Given the description of an element on the screen output the (x, y) to click on. 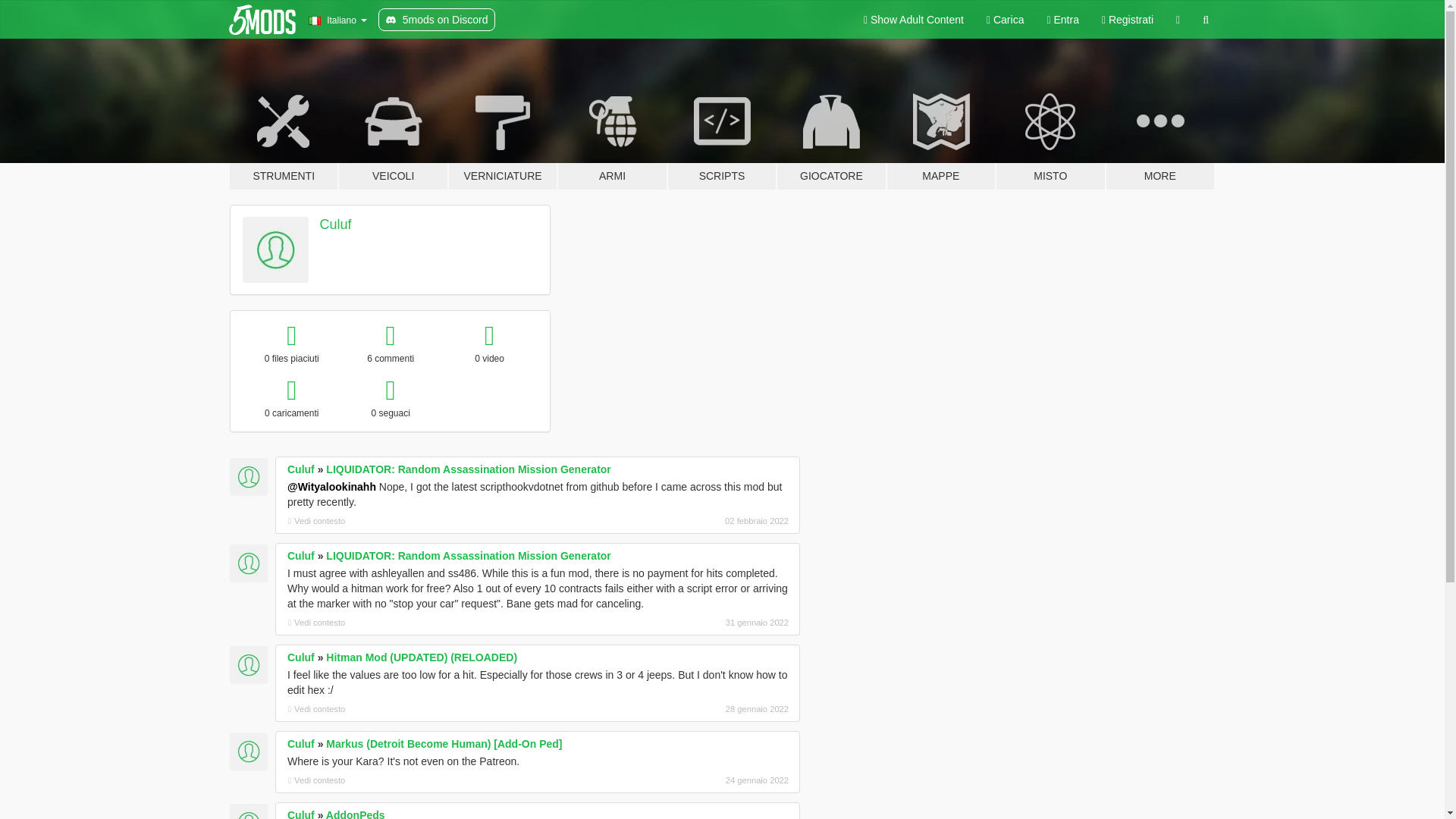
Dark mode (1177, 19)
Carica (1005, 19)
Show Adult Content (913, 19)
5mods on Discord (436, 19)
Light mode (913, 19)
Registrati (1127, 19)
Entra (1062, 19)
  Italiano (336, 19)
